Given the description of an element on the screen output the (x, y) to click on. 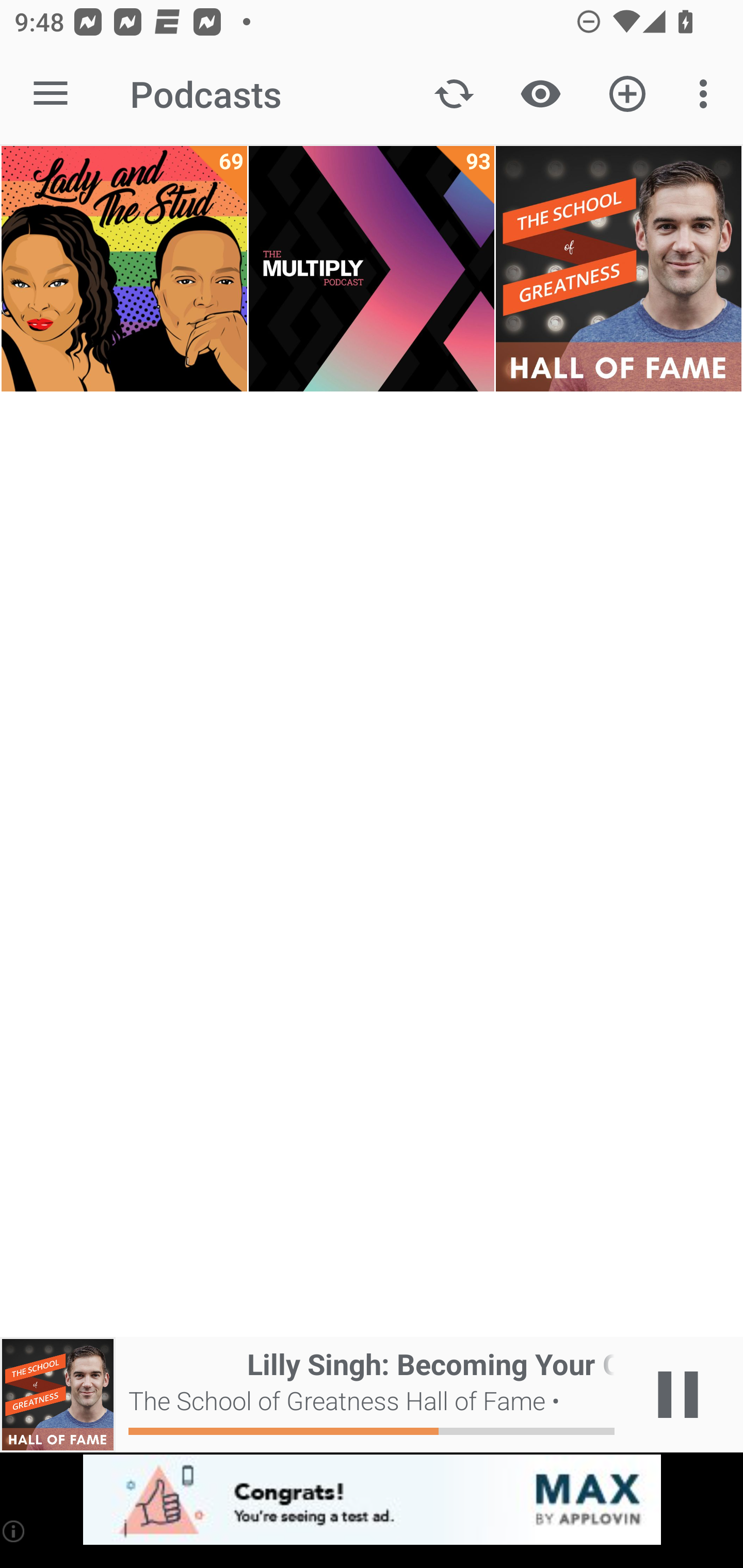
Open navigation sidebar (50, 93)
Update (453, 93)
Show / Hide played content (540, 93)
Add new Podcast (626, 93)
More options (706, 93)
Lady and The Stud 69 (124, 268)
The Multiply Podcast 93 (371, 268)
The School of Greatness Hall of Fame (618, 268)
Play / Pause (677, 1394)
app-monetization (371, 1500)
(i) (14, 1531)
